Given the description of an element on the screen output the (x, y) to click on. 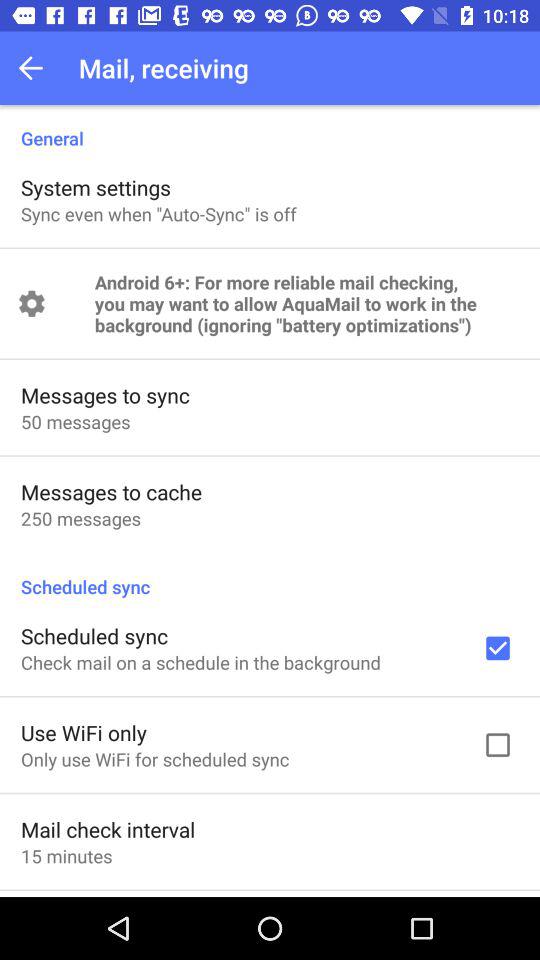
turn off item above the messages to cache icon (75, 421)
